Given the description of an element on the screen output the (x, y) to click on. 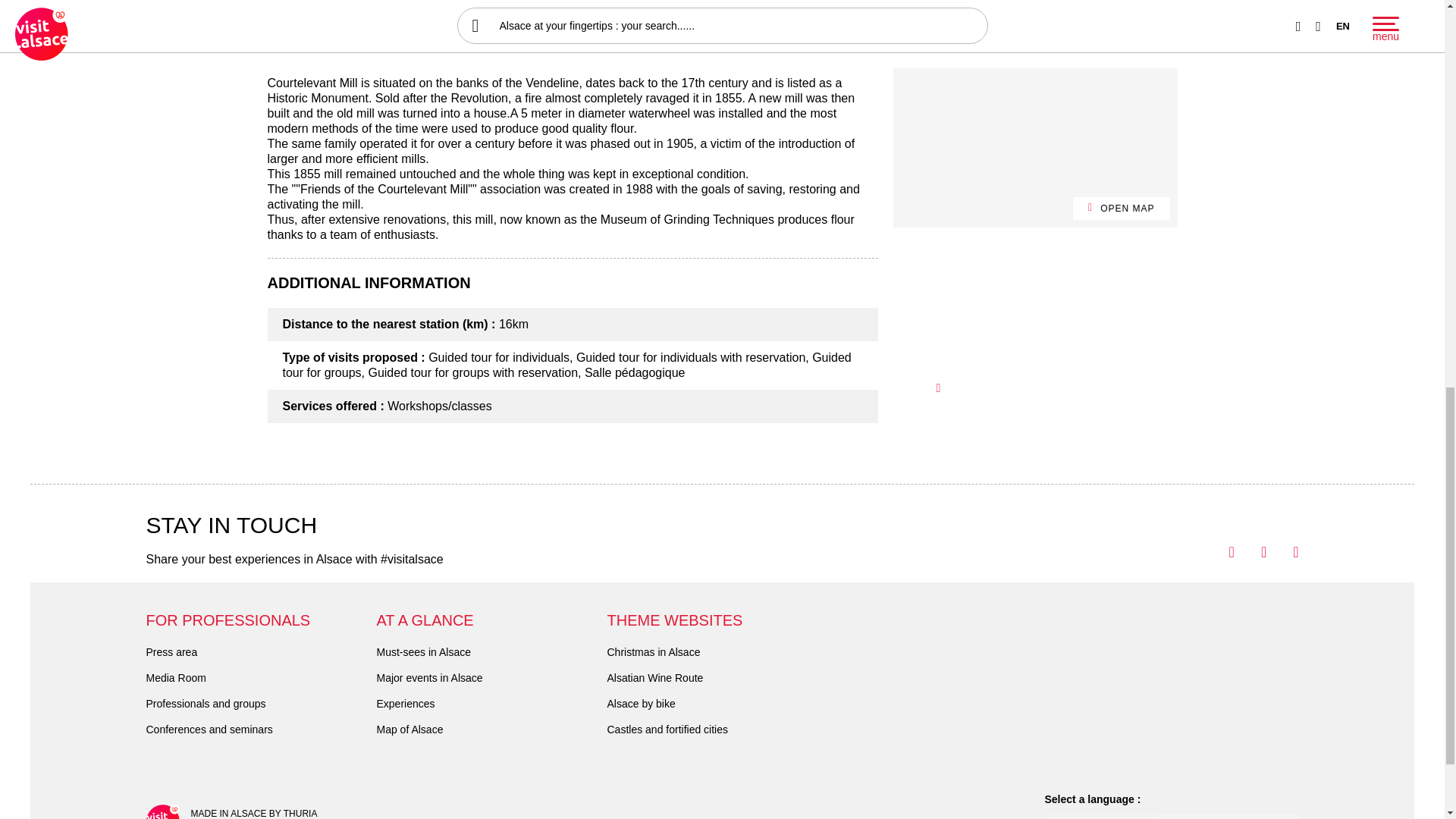
Facebook VisitAlsace (1218, 551)
Youtube VisitAlsace (1250, 551)
Instagram VisitAlsace (1282, 551)
